Given the description of an element on the screen output the (x, y) to click on. 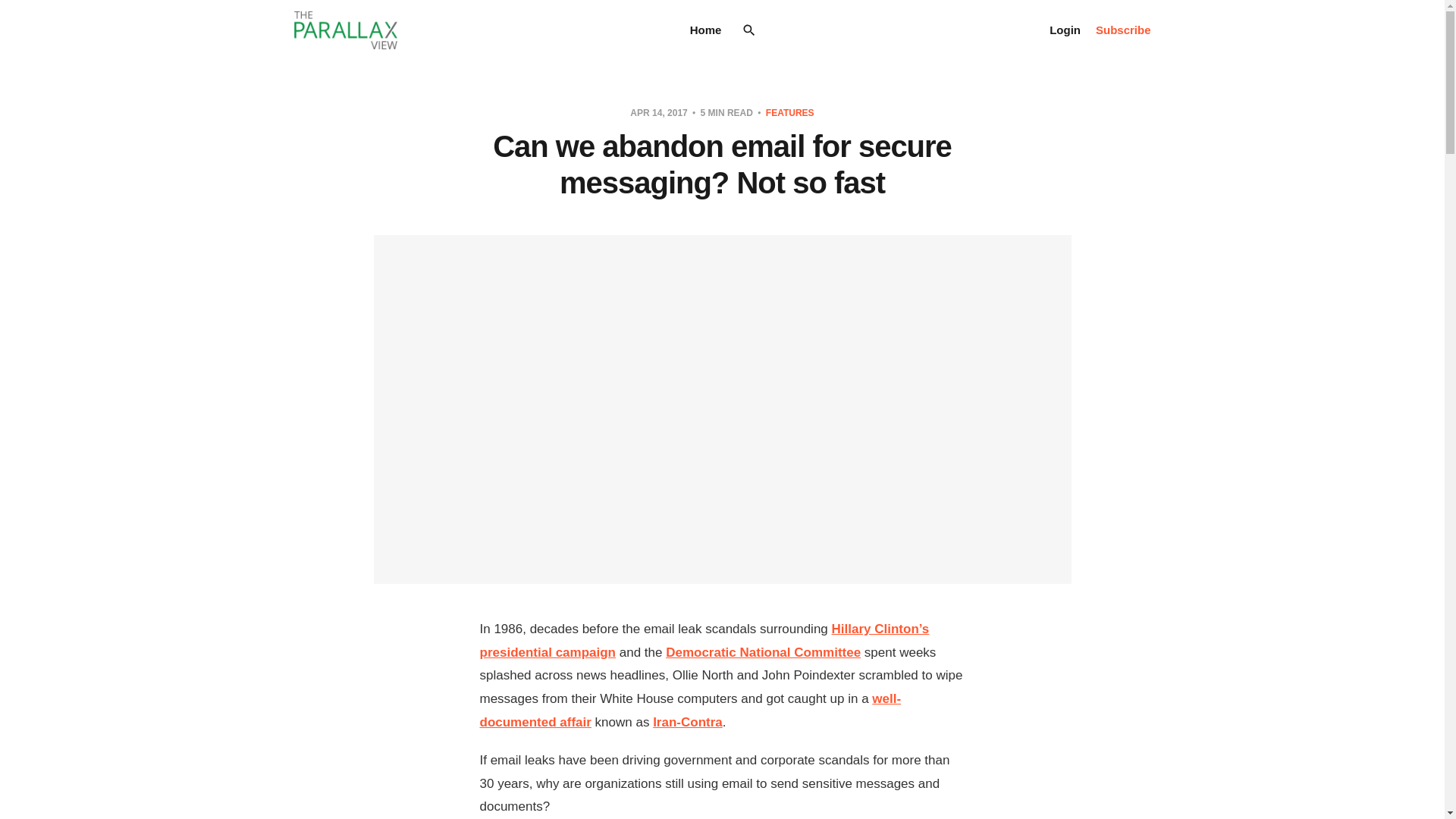
well-documented affair (690, 710)
FEATURES (789, 112)
Home (706, 30)
Login (1064, 30)
Iran-Contra (687, 721)
Subscribe (1123, 30)
Democratic National Committee (762, 652)
